Given the description of an element on the screen output the (x, y) to click on. 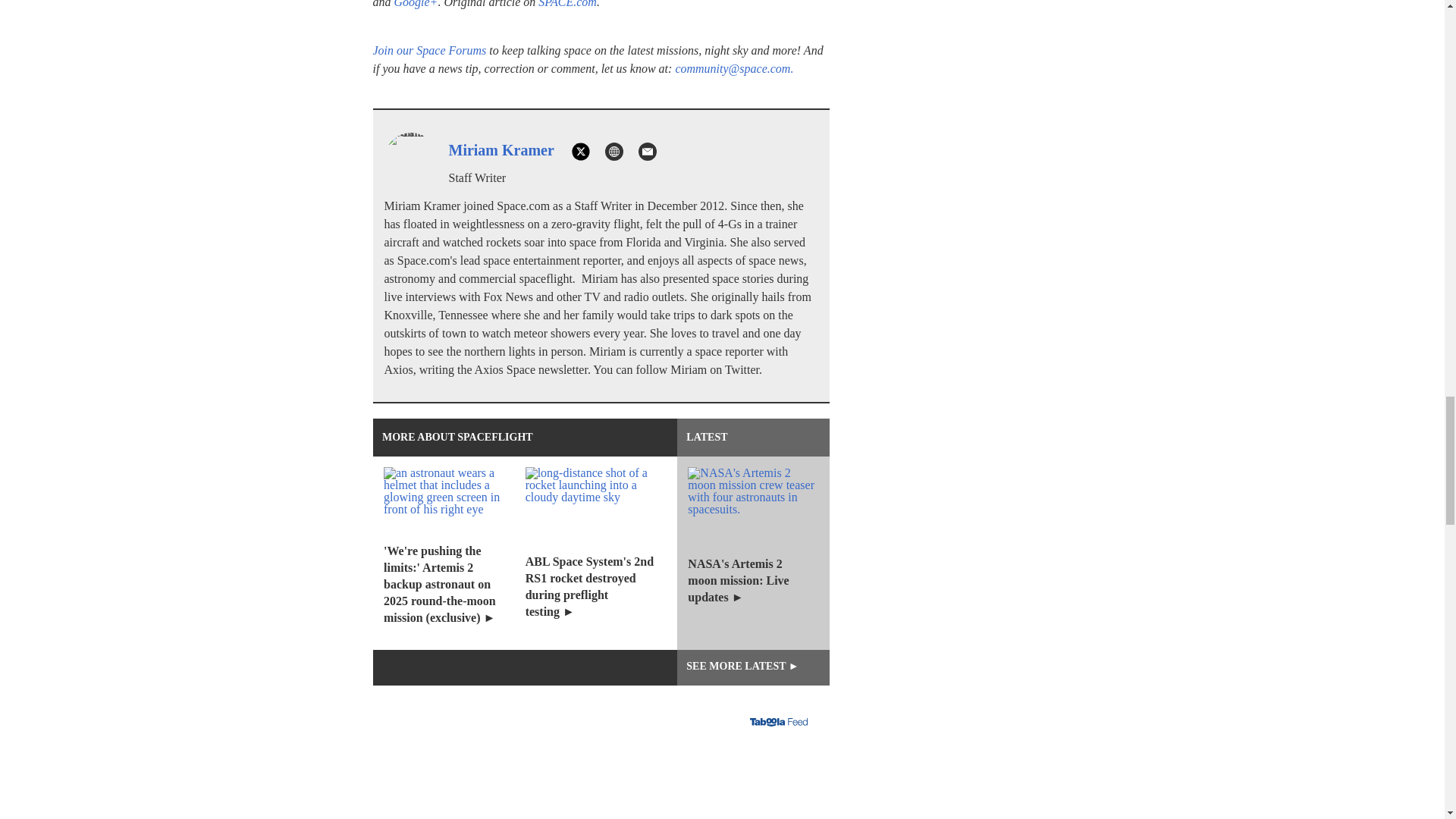
What is your writing missing? (600, 787)
